Given the description of an element on the screen output the (x, y) to click on. 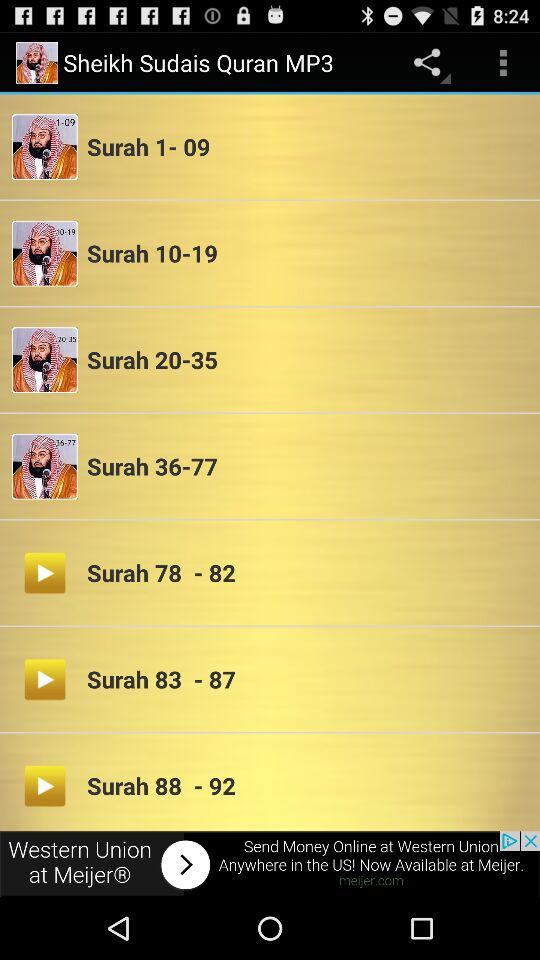
click the advertisement (270, 864)
